Given the description of an element on the screen output the (x, y) to click on. 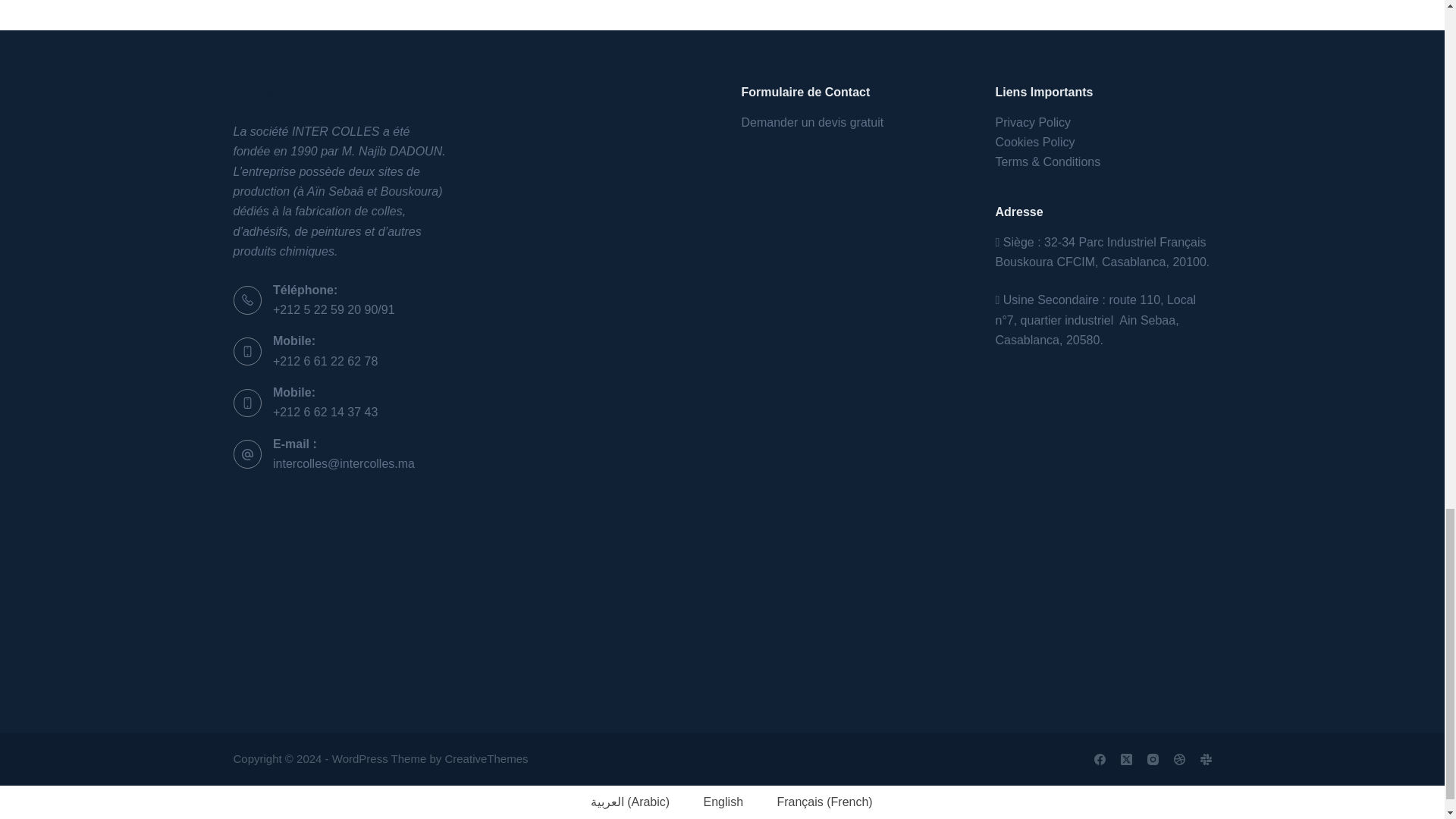
Demander un devis gratuit  (813, 122)
Cookies Policy (1034, 141)
Privacy Policy (1032, 122)
